Given the description of an element on the screen output the (x, y) to click on. 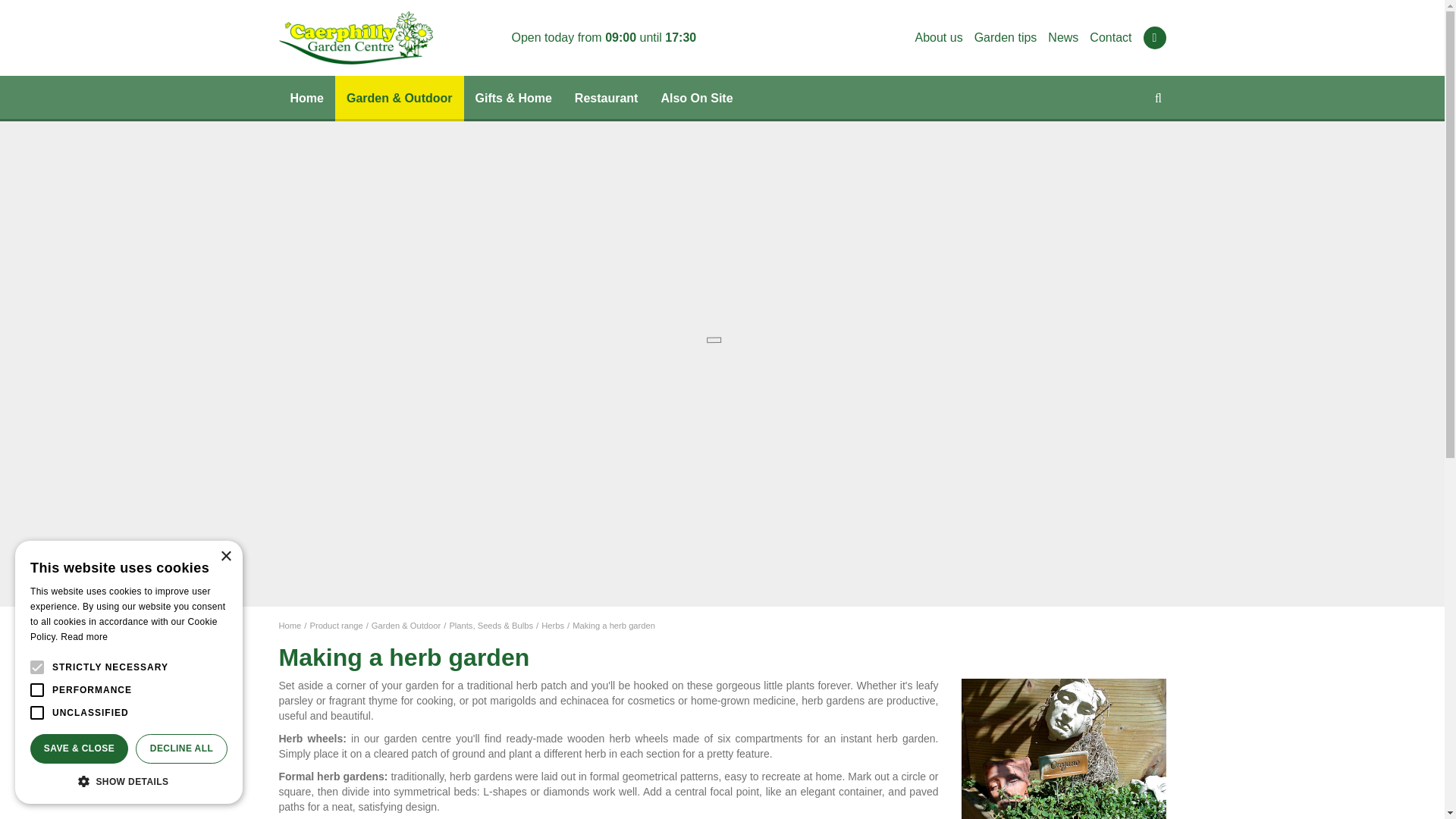
FB (1154, 37)
Home (306, 98)
Contact (1110, 37)
About us (938, 37)
Also On Site (696, 98)
Home (290, 625)
Garden tips (1005, 37)
Making a herb garden (613, 625)
Search (1150, 52)
Contact (1110, 37)
Restaurant (606, 98)
Herbs (552, 625)
Home (306, 98)
Herbs (552, 625)
News (1063, 37)
